Given the description of an element on the screen output the (x, y) to click on. 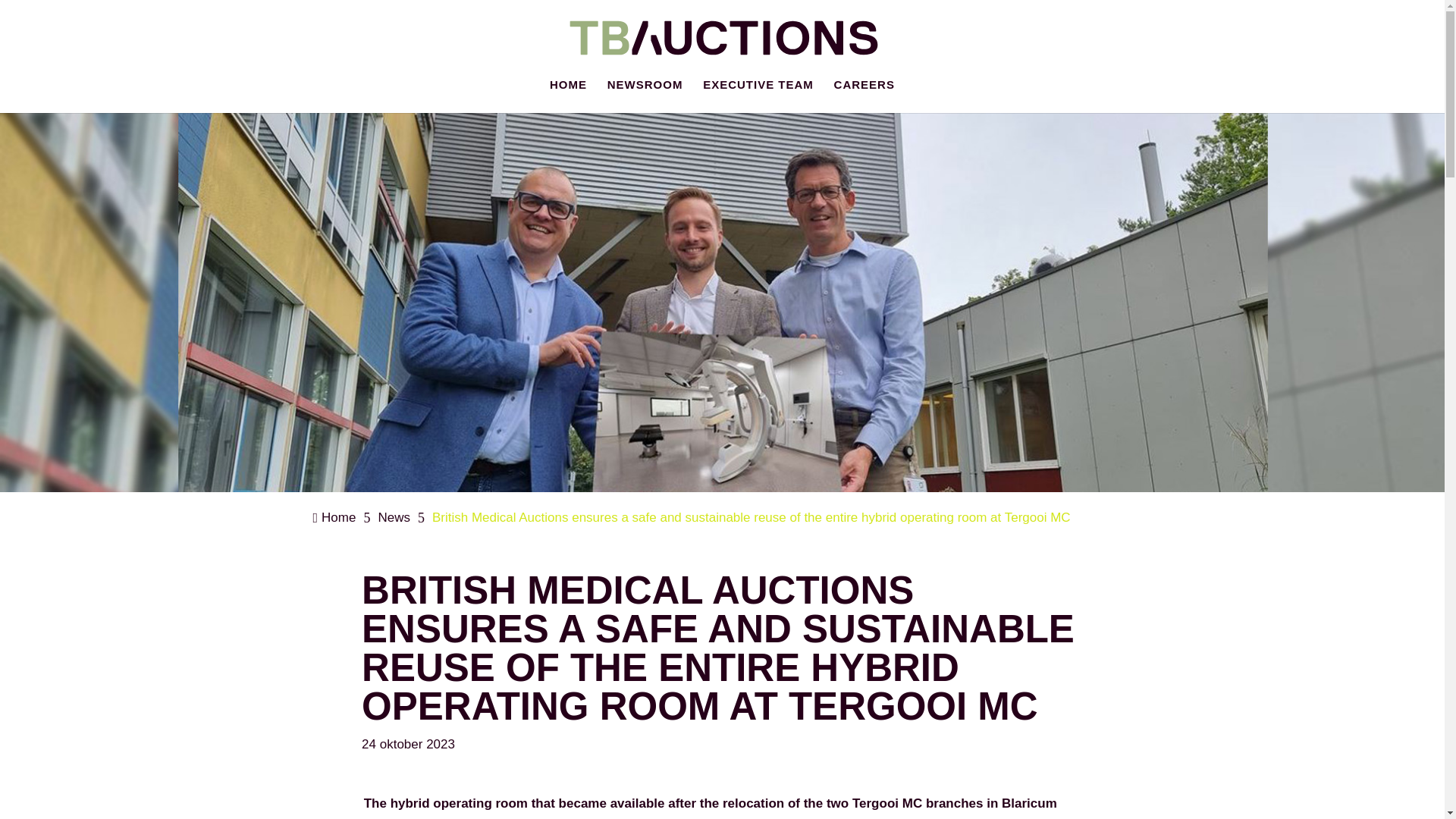
HOME (568, 96)
News (393, 517)
NEWSROOM (644, 96)
CAREERS (864, 96)
EXECUTIVE TEAM (758, 96)
